Given the description of an element on the screen output the (x, y) to click on. 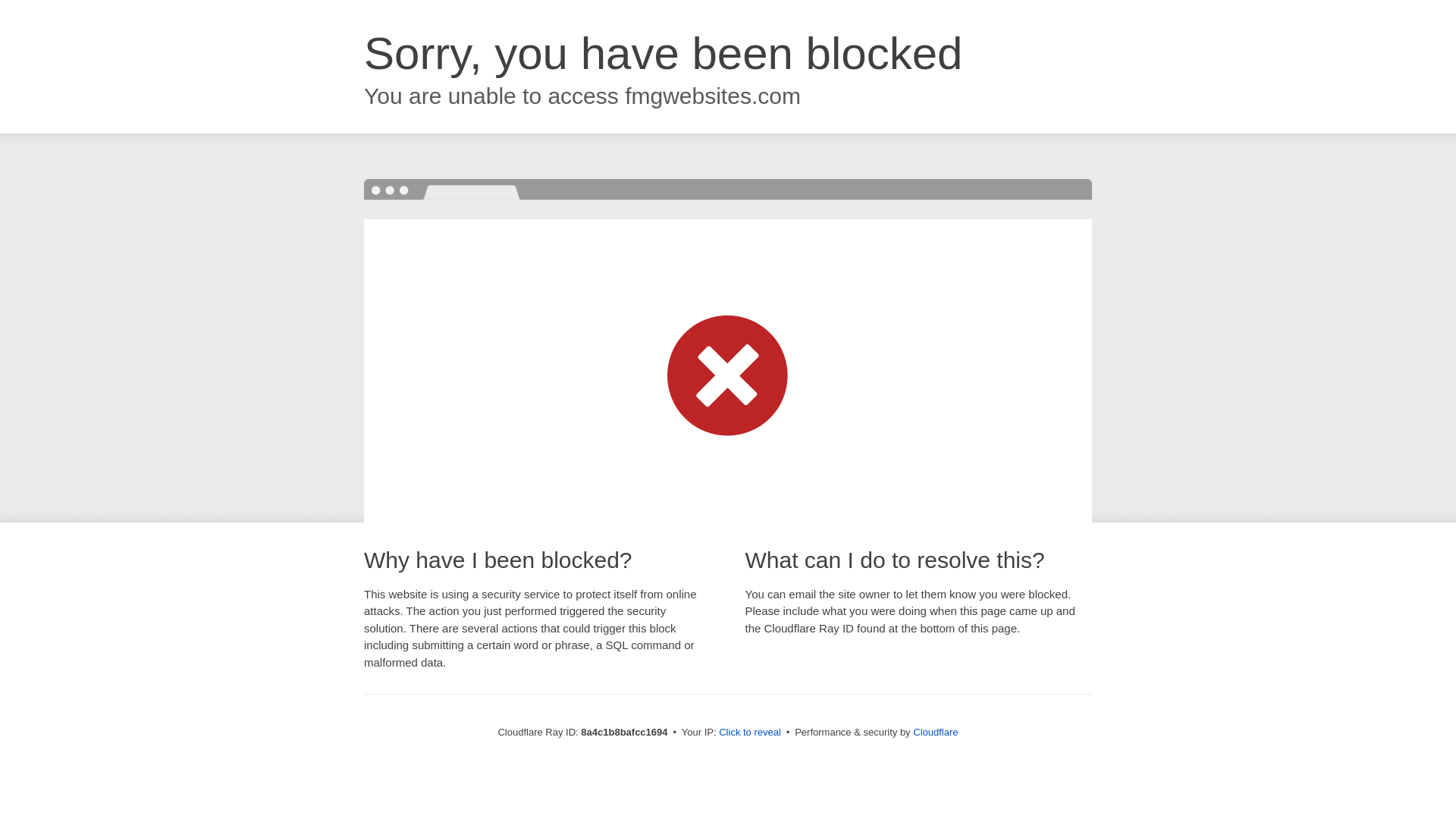
Click to reveal (749, 732)
Cloudflare (935, 731)
